Given the description of an element on the screen output the (x, y) to click on. 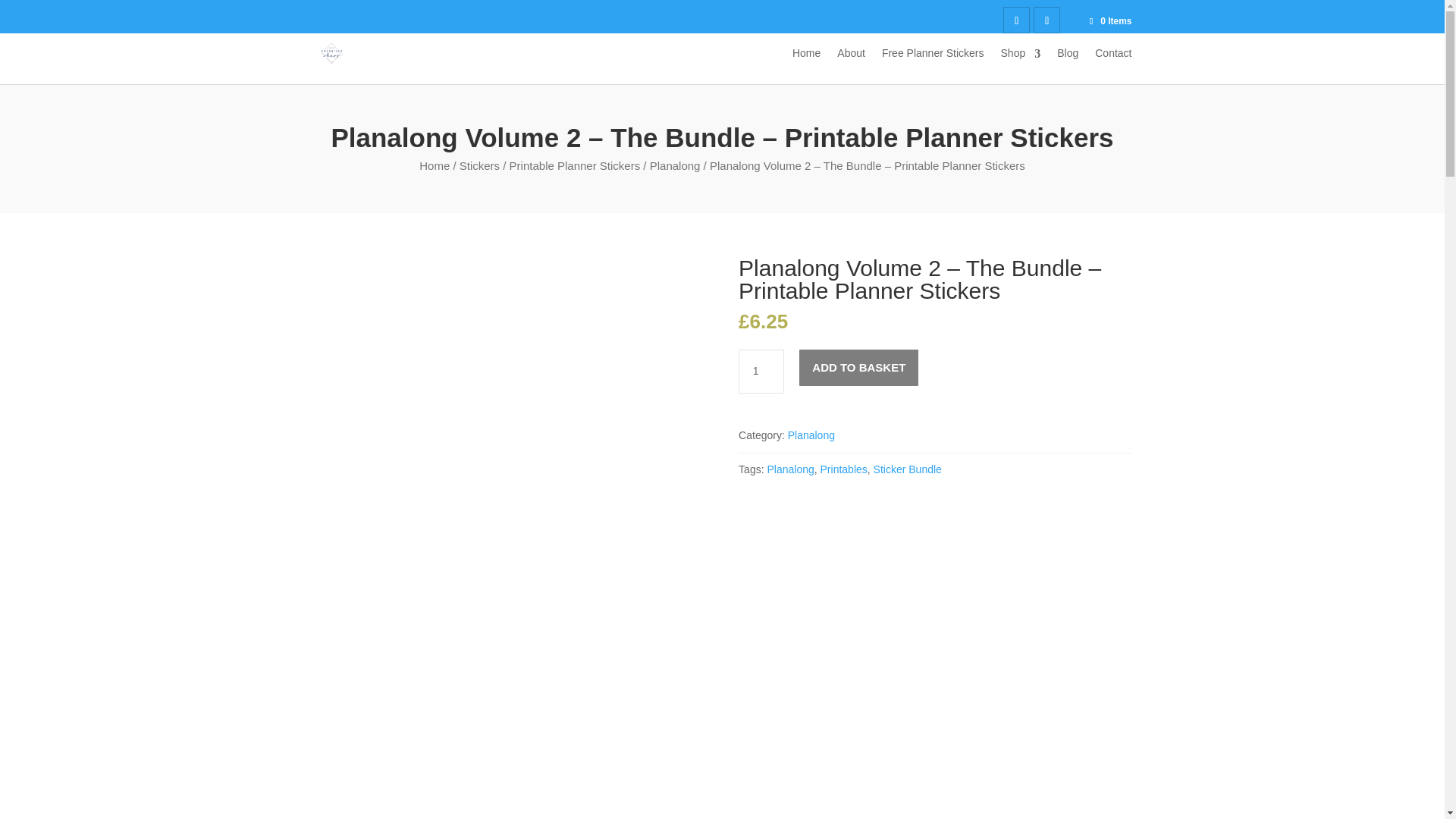
Shop (1021, 65)
Contact (1112, 65)
1 (761, 371)
Free Planner Stickers (933, 65)
Printable Planner Stickers (574, 164)
Planalong (674, 164)
Home (434, 164)
Stickers (479, 164)
0 Items (1108, 20)
